Given the description of an element on the screen output the (x, y) to click on. 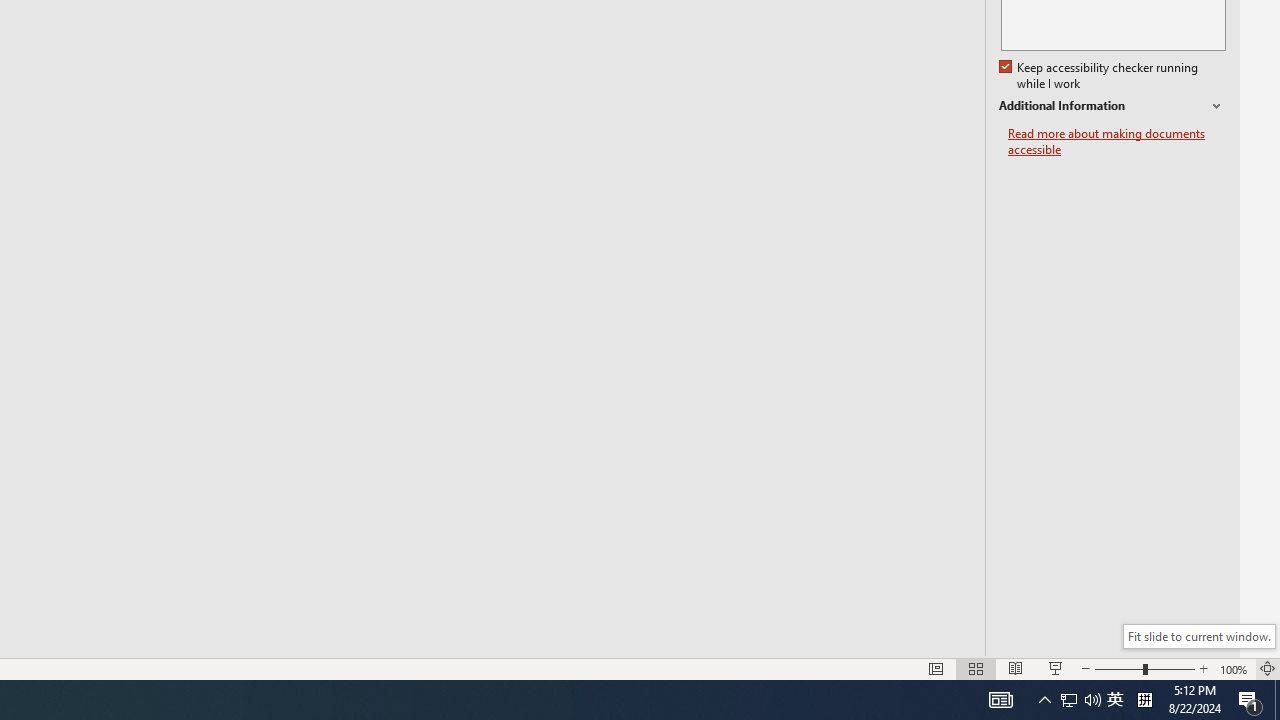
Additional Information (1112, 106)
Keep accessibility checker running while I work (1099, 76)
Read more about making documents accessible (1117, 142)
Fit slide to current window. (1199, 636)
Action Center, 1 new notification (1250, 699)
